Given the description of an element on the screen output the (x, y) to click on. 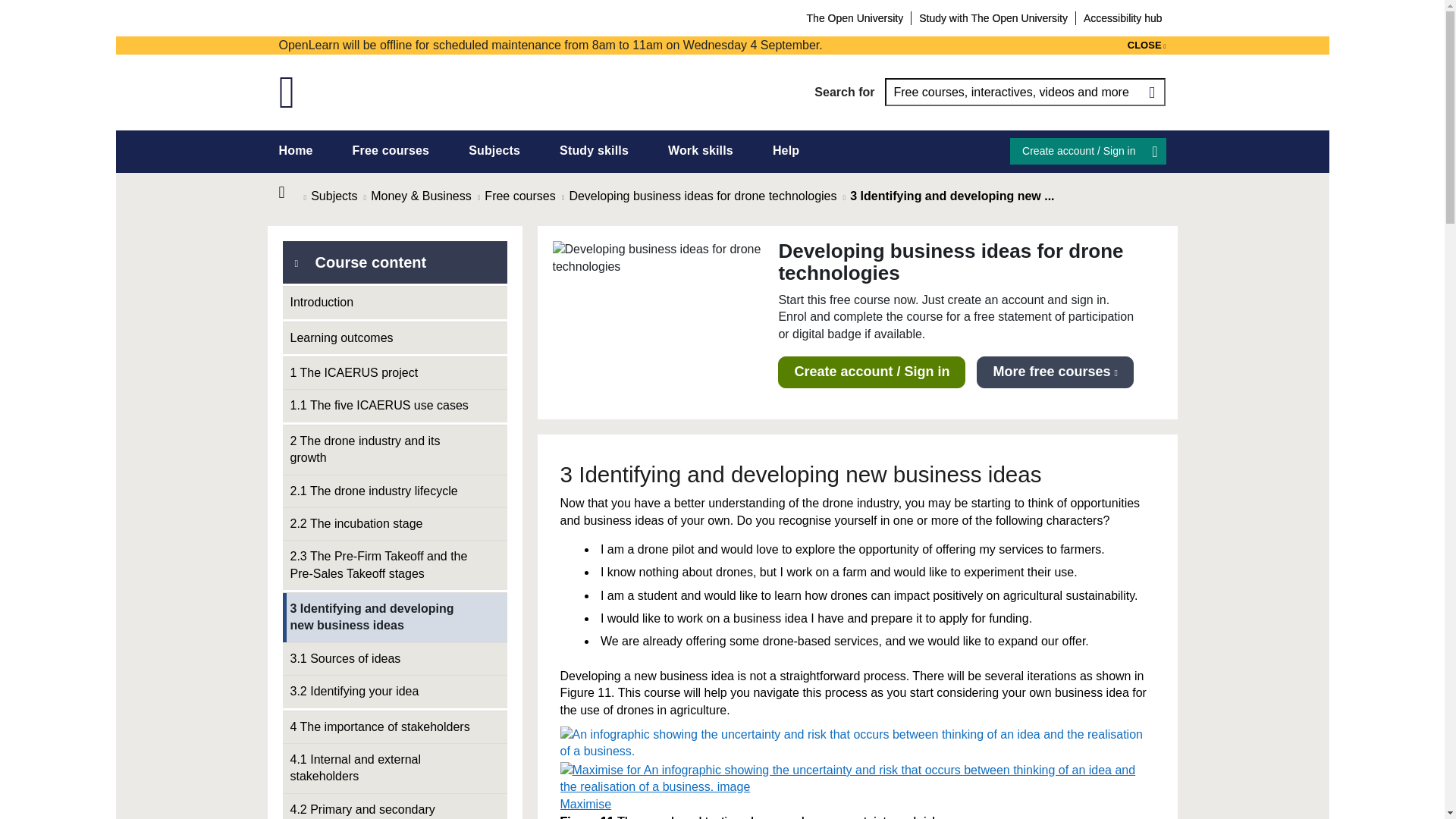
Subjects (493, 150)
Help (786, 150)
CLOSE (1146, 45)
Study skills (593, 150)
Home (296, 150)
The Open University (855, 17)
Free courses (390, 150)
Study with The Open University (993, 17)
Home (291, 193)
Search (1151, 91)
